Given the description of an element on the screen output the (x, y) to click on. 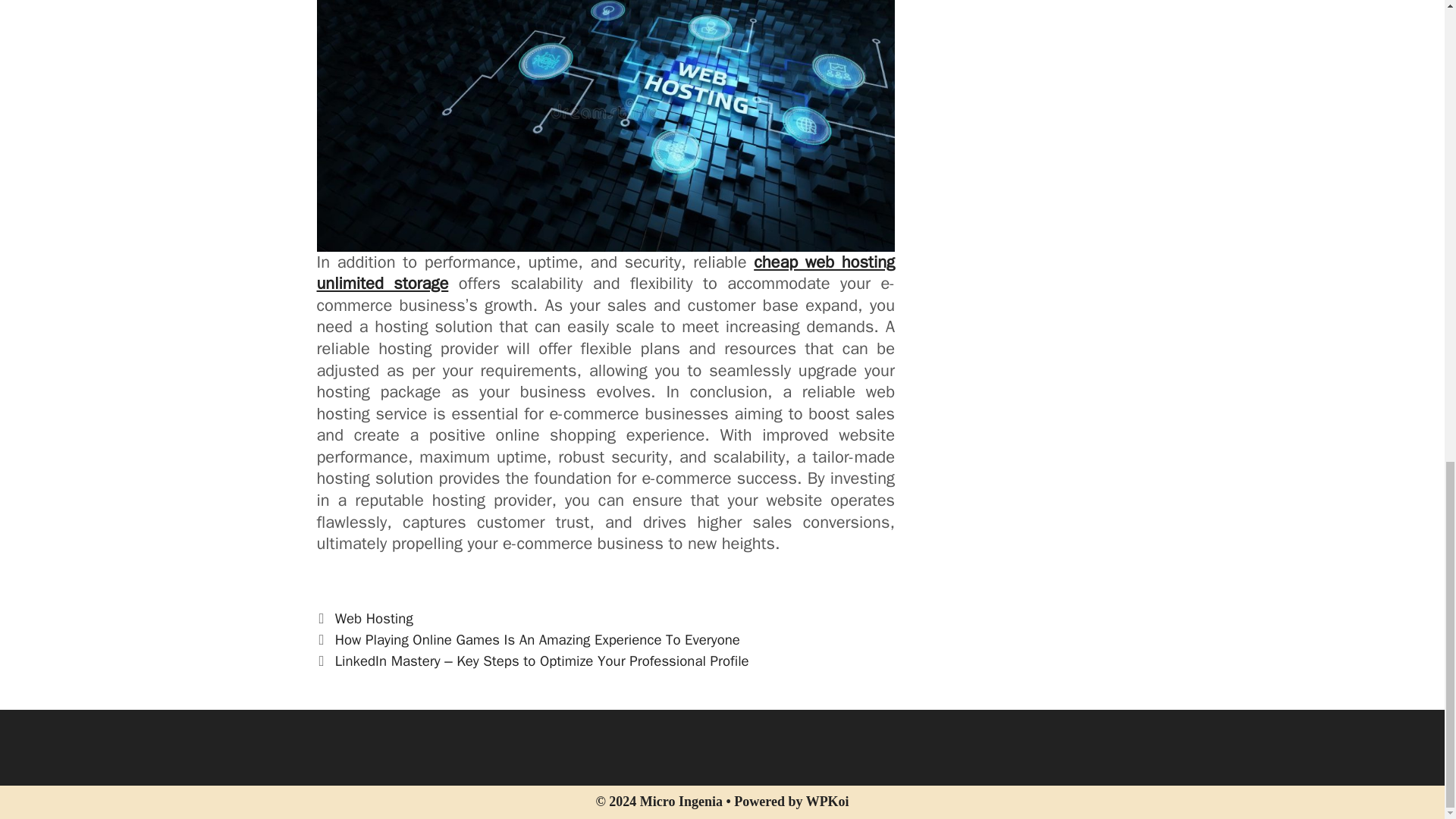
Previous (528, 639)
Next (533, 660)
Web Hosting (373, 618)
cheap web hosting unlimited storage (606, 272)
WPKoi (827, 801)
